Given the description of an element on the screen output the (x, y) to click on. 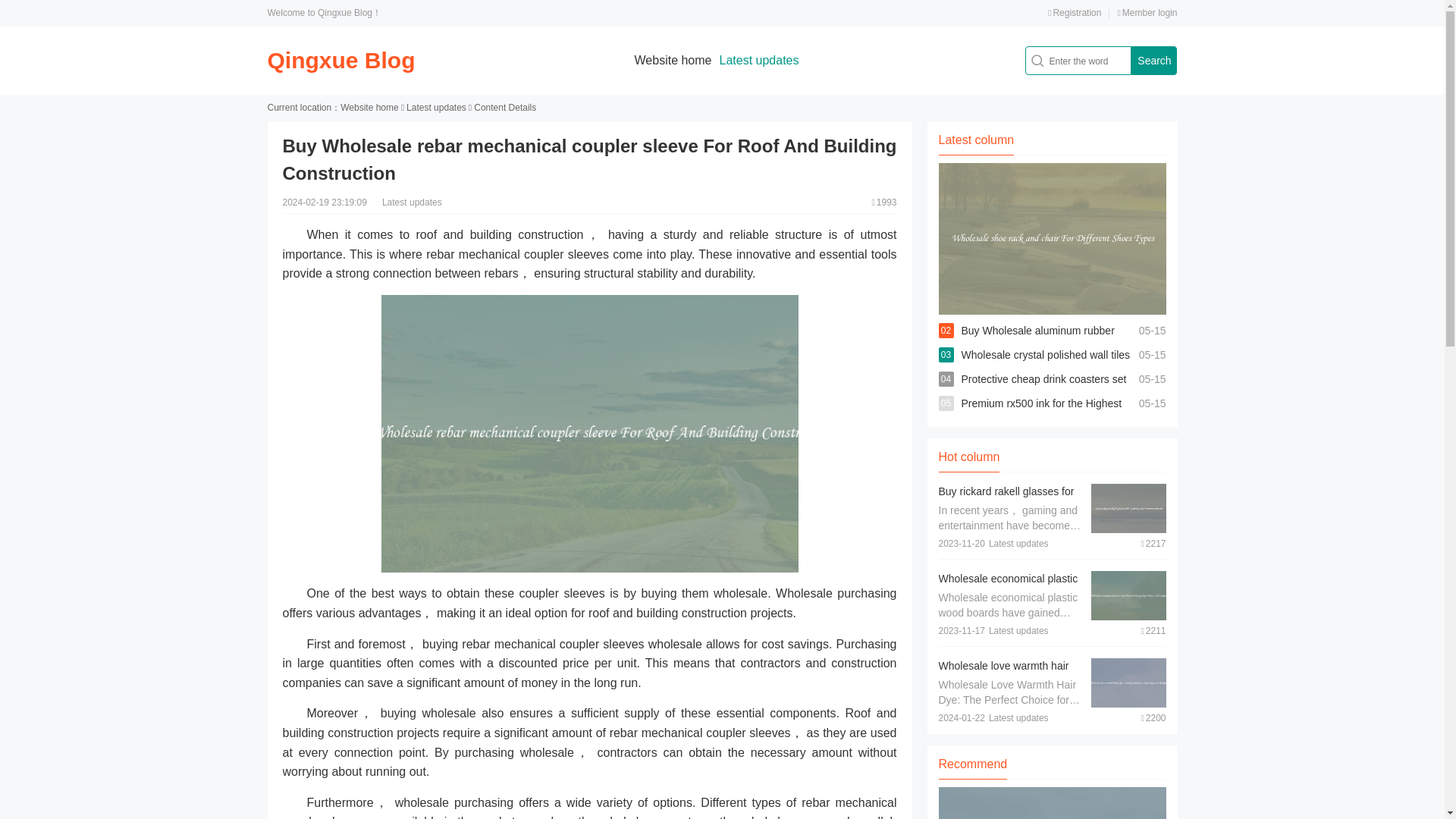
Premium rx500 ink for the Highest Quality Printing (1041, 415)
Qingxue Blog (340, 59)
Buy rickard rakell glasses for Gaming and Entertainment (1006, 498)
Latest updates (758, 60)
Member login (1146, 12)
Search (1153, 60)
Website home (368, 107)
Latest updates (435, 107)
Website home (672, 60)
